Given the description of an element on the screen output the (x, y) to click on. 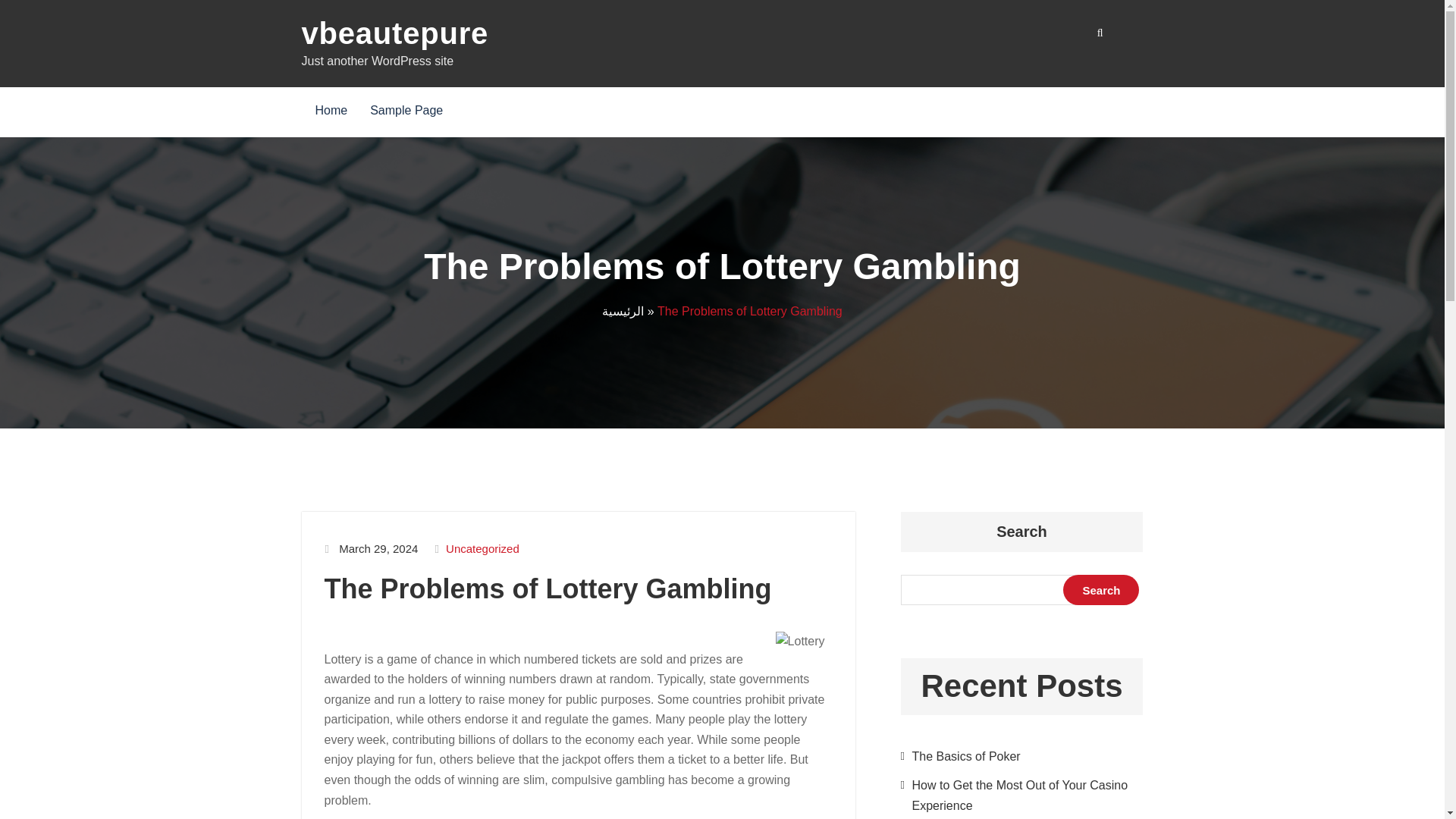
How to Get the Most Out of Your Casino Experience (1018, 795)
Sample Page (405, 112)
vbeautepure (395, 32)
Uncategorized (482, 548)
Search (1100, 589)
The Basics of Poker (965, 756)
March 29, 2024 (378, 548)
